Given the description of an element on the screen output the (x, y) to click on. 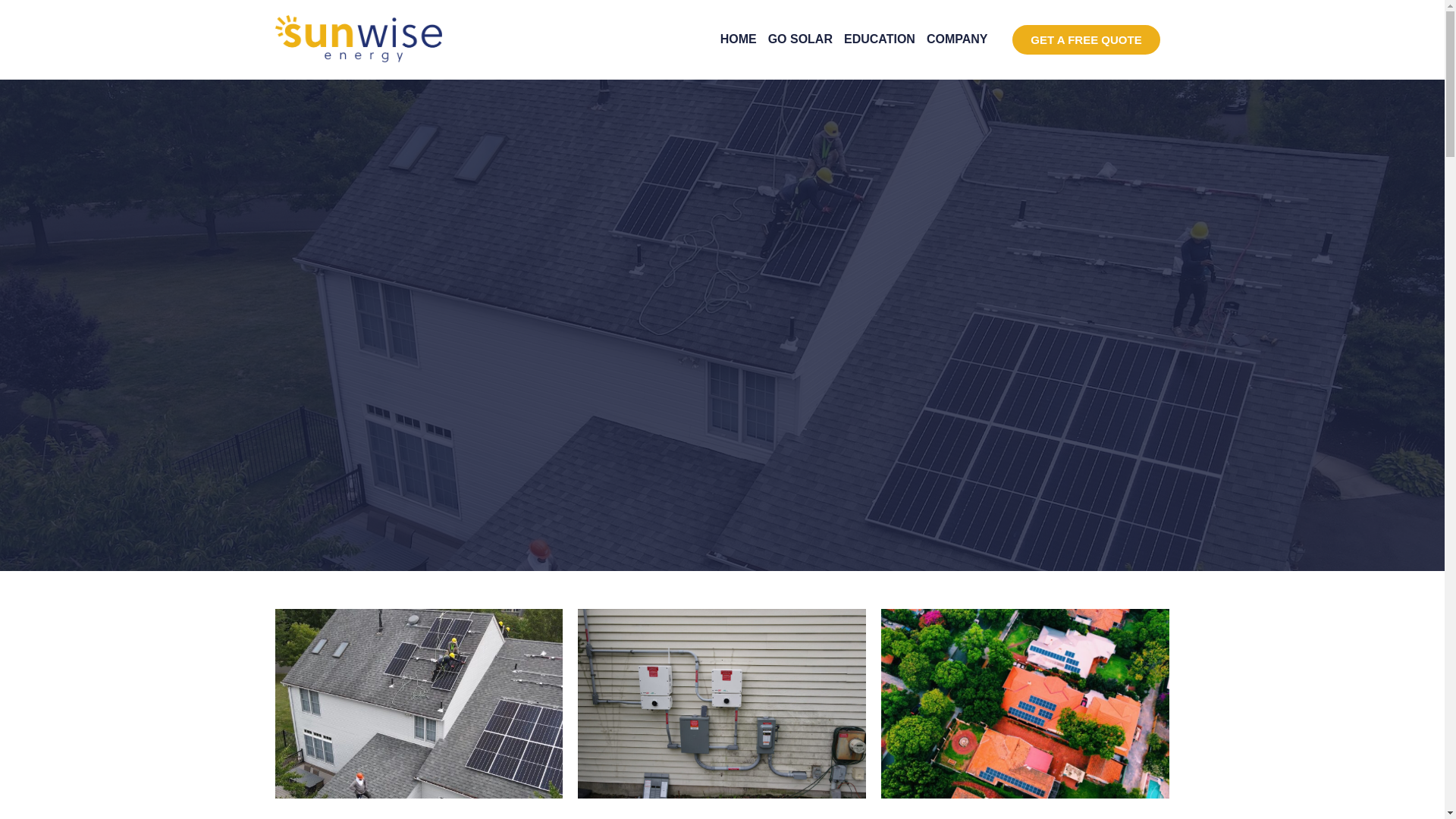
HOME (738, 39)
EDUCATION (879, 39)
COMPANY (957, 39)
GO SOLAR (800, 39)
